Given the description of an element on the screen output the (x, y) to click on. 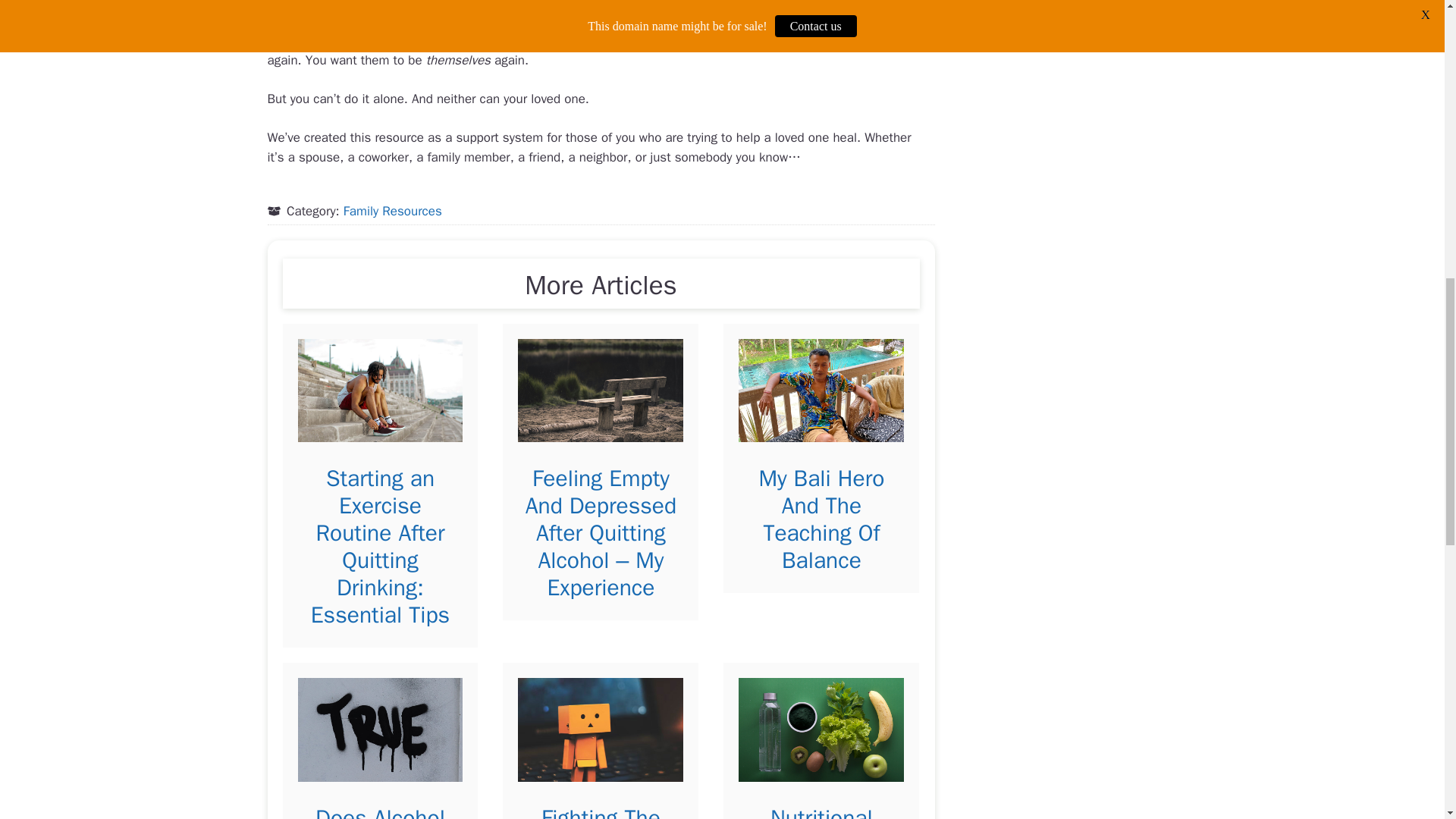
Does Alcohol Make You Tell the Truth? Yes And No (379, 811)
Scroll back to top (1406, 720)
Family Resources (392, 211)
help a loved one quit drinking (765, 5)
My Bali Hero And The Teaching Of Balance (820, 519)
Fighting The Urge To Drink Alcohol In The Moment (600, 811)
